Given the description of an element on the screen output the (x, y) to click on. 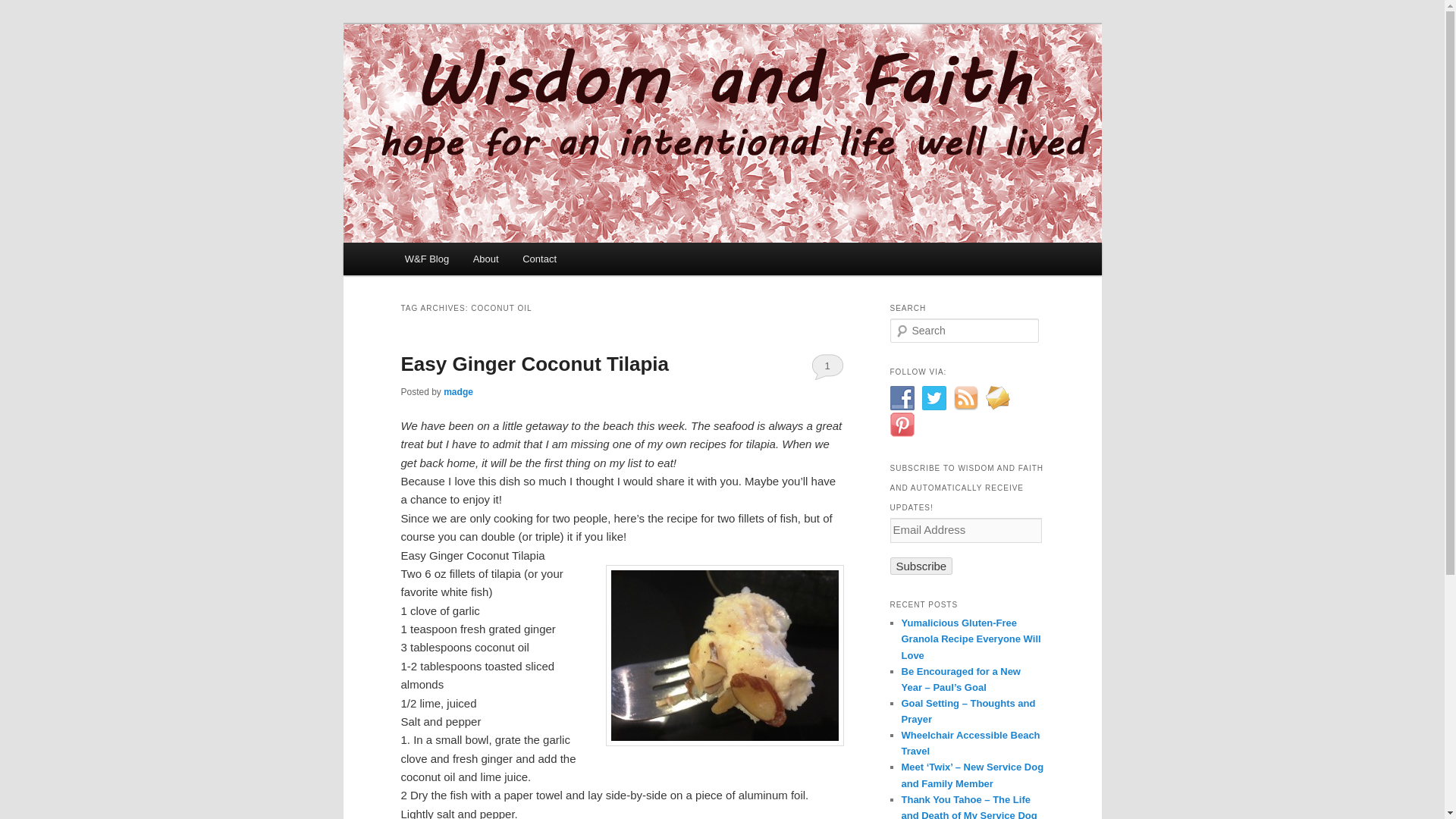
Follow via: Pinterest (901, 424)
Follow via: E-mail (997, 397)
Wisdom and Faith (497, 78)
Contact (539, 258)
madge (458, 391)
1 (827, 366)
Subscribe (921, 565)
Follow via: Twitter (933, 397)
Search (21, 11)
Follow via: RSS (965, 397)
